Given the description of an element on the screen output the (x, y) to click on. 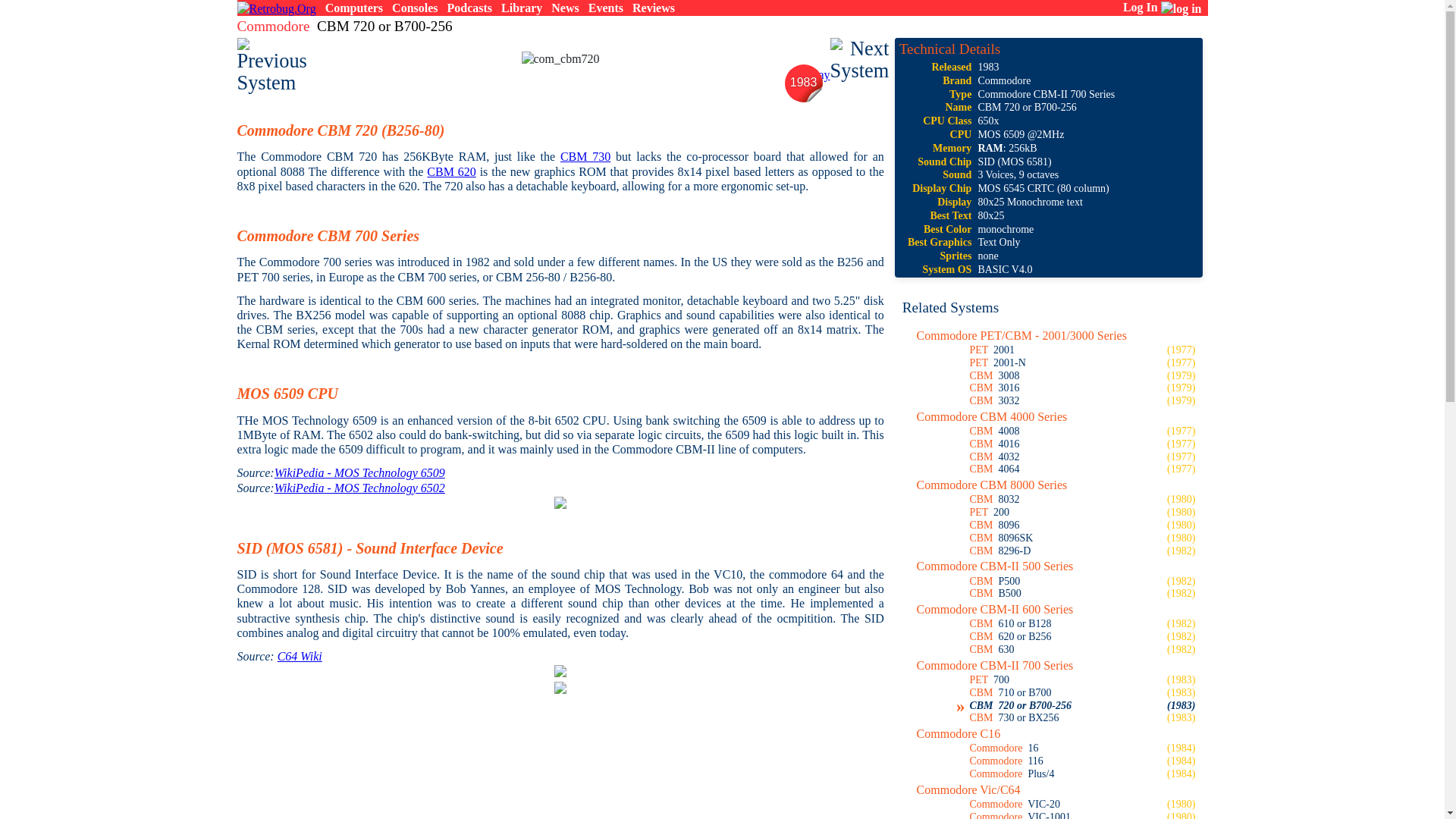
Reviews (653, 7)
C64 Wiki (299, 656)
CBM 620 (451, 171)
Events (605, 7)
Library (520, 7)
WikiPedia - MOS Technology 6509 (360, 472)
CBM 730 (585, 155)
WikiPedia - MOS Technology 6502 (360, 487)
Consoles (414, 7)
News (564, 7)
